Given the description of an element on the screen output the (x, y) to click on. 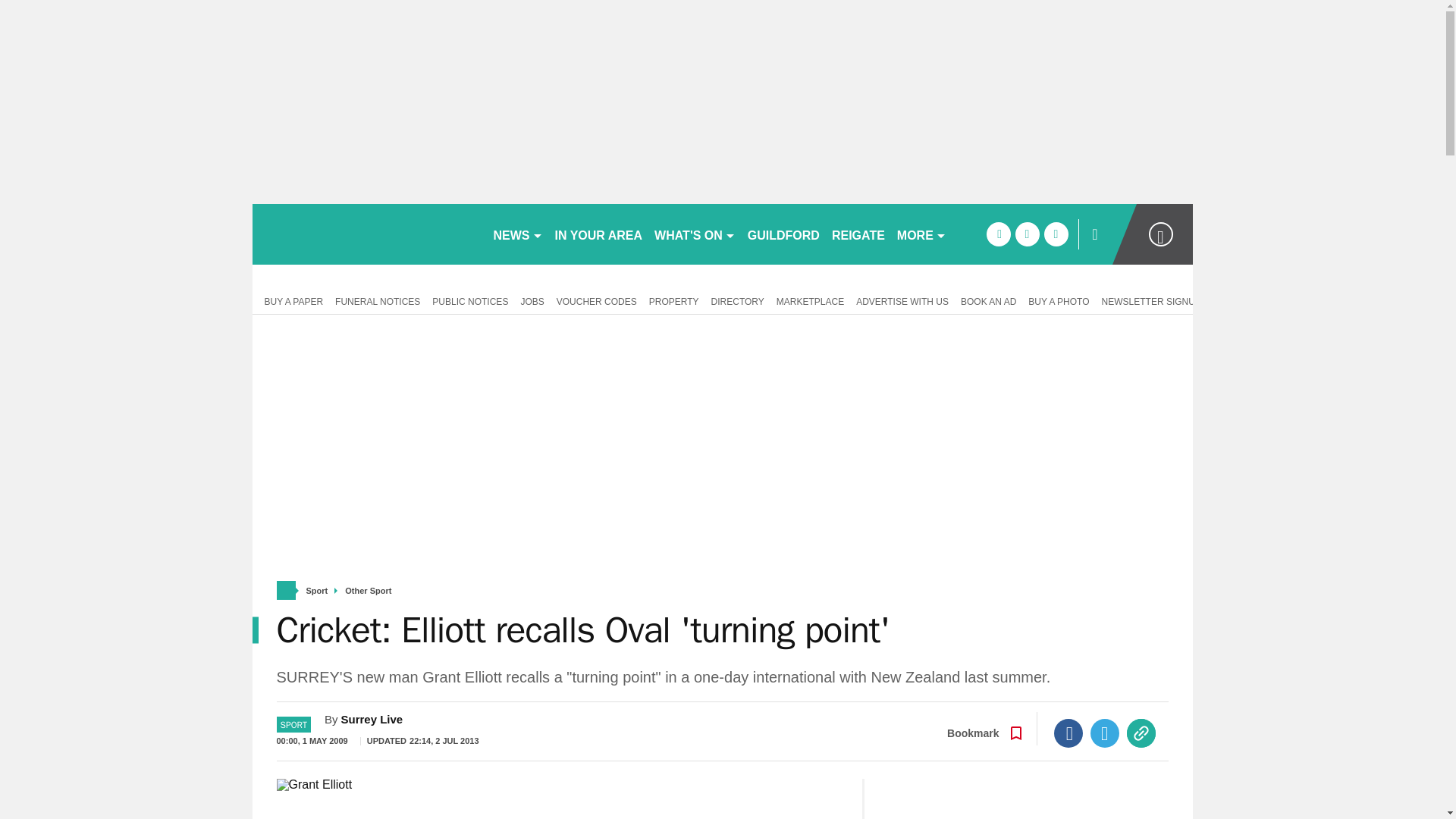
instagram (1055, 233)
PROPERTY (673, 300)
facebook (997, 233)
Facebook (1068, 733)
GUILDFORD (783, 233)
REIGATE (858, 233)
BUY A PAPER (290, 300)
MORE (921, 233)
NEWS (517, 233)
getsurrey (365, 233)
